Given the description of an element on the screen output the (x, y) to click on. 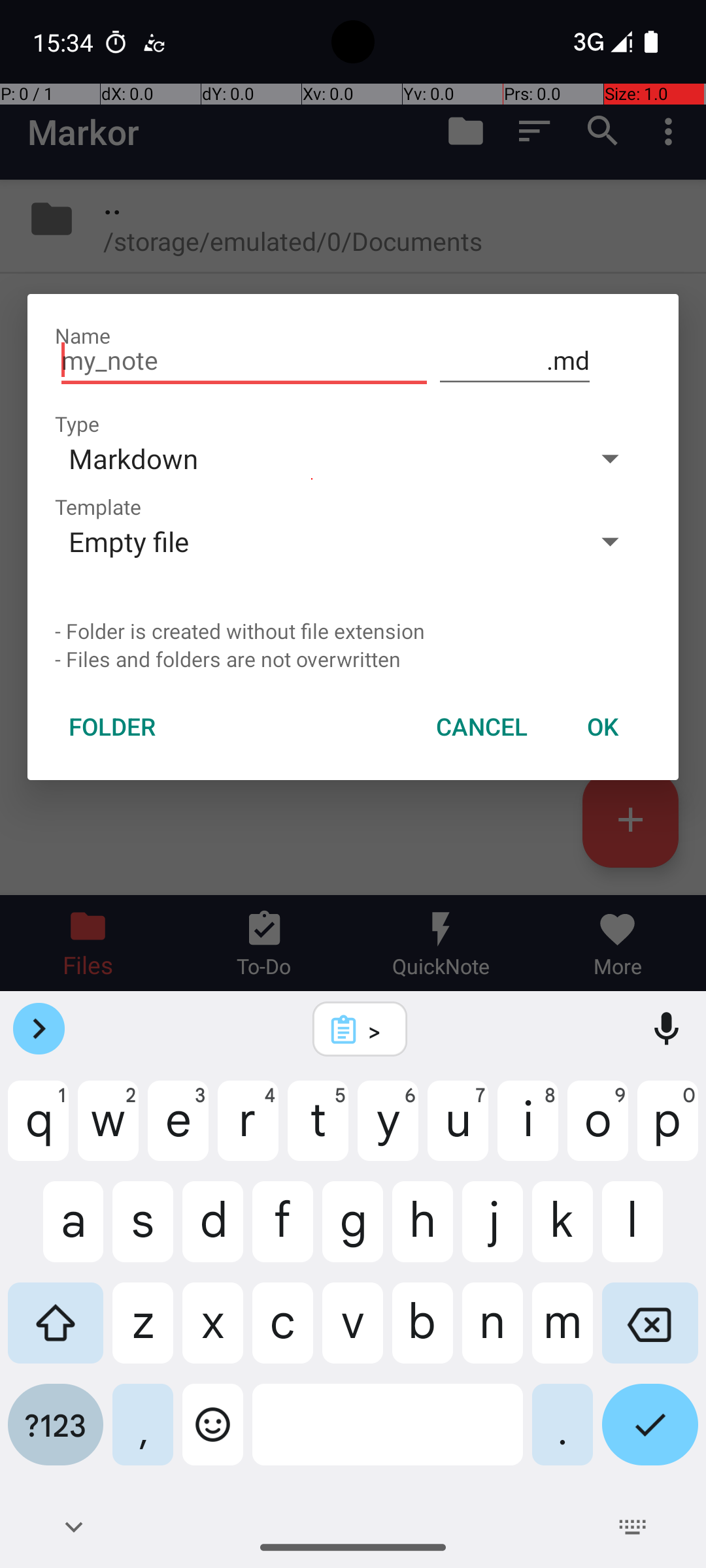
>  Element type: android.widget.TextView (377, 1029)
